Given the description of an element on the screen output the (x, y) to click on. 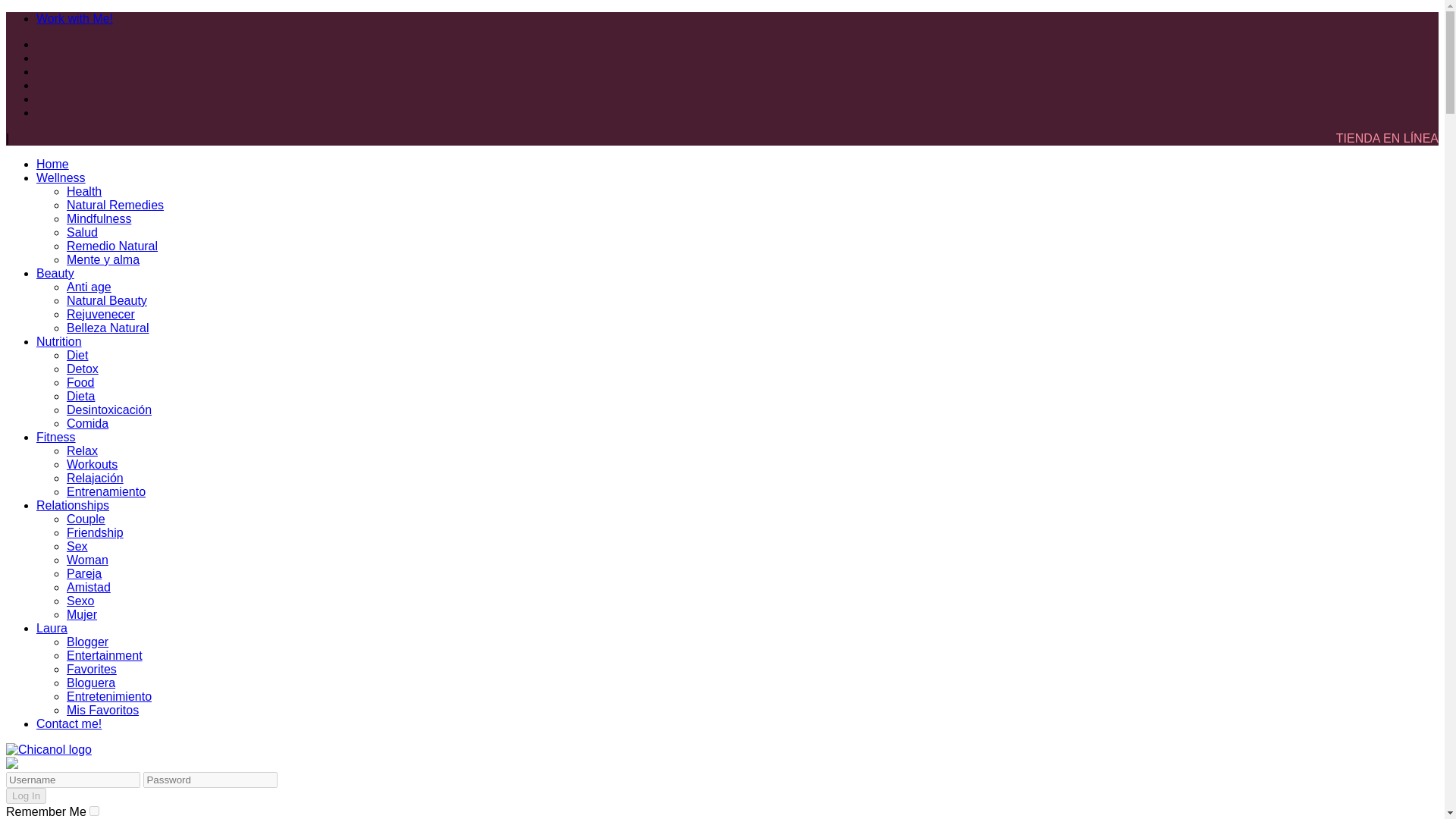
Salud (81, 232)
Fitness (55, 436)
Dieta (80, 395)
Workouts (91, 463)
Food (80, 382)
Mente y alma (102, 259)
Natural Remedies (114, 205)
Mindfulness (98, 218)
Anti age (89, 286)
Relationships (72, 504)
Rejuvenecer (100, 314)
Comida (86, 422)
Entrenamiento (105, 491)
Nutrition (58, 341)
Home (52, 164)
